Given the description of an element on the screen output the (x, y) to click on. 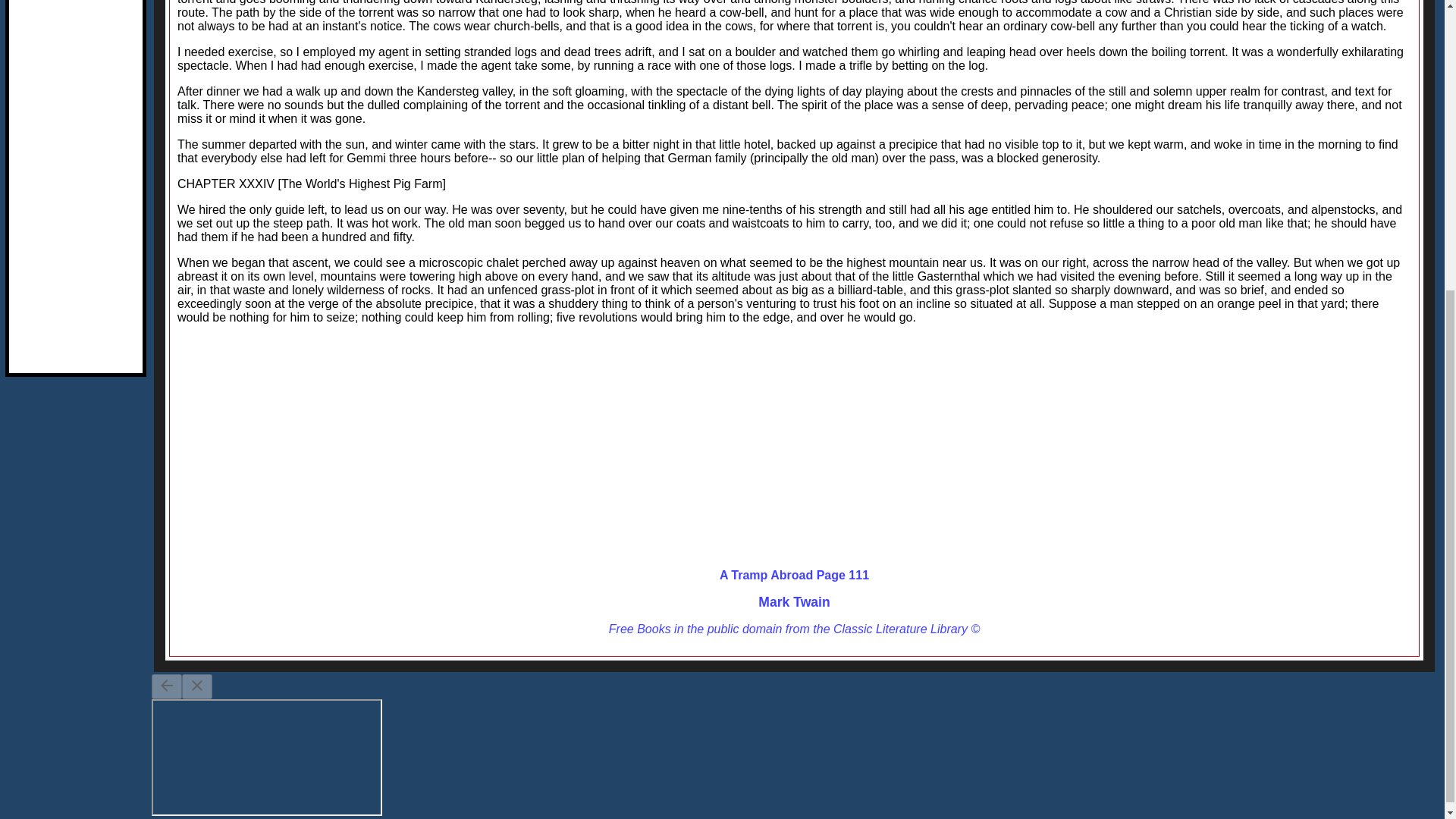
A Tramp Abroad Page 111 (794, 574)
Mark Twain (793, 601)
